Given the description of an element on the screen output the (x, y) to click on. 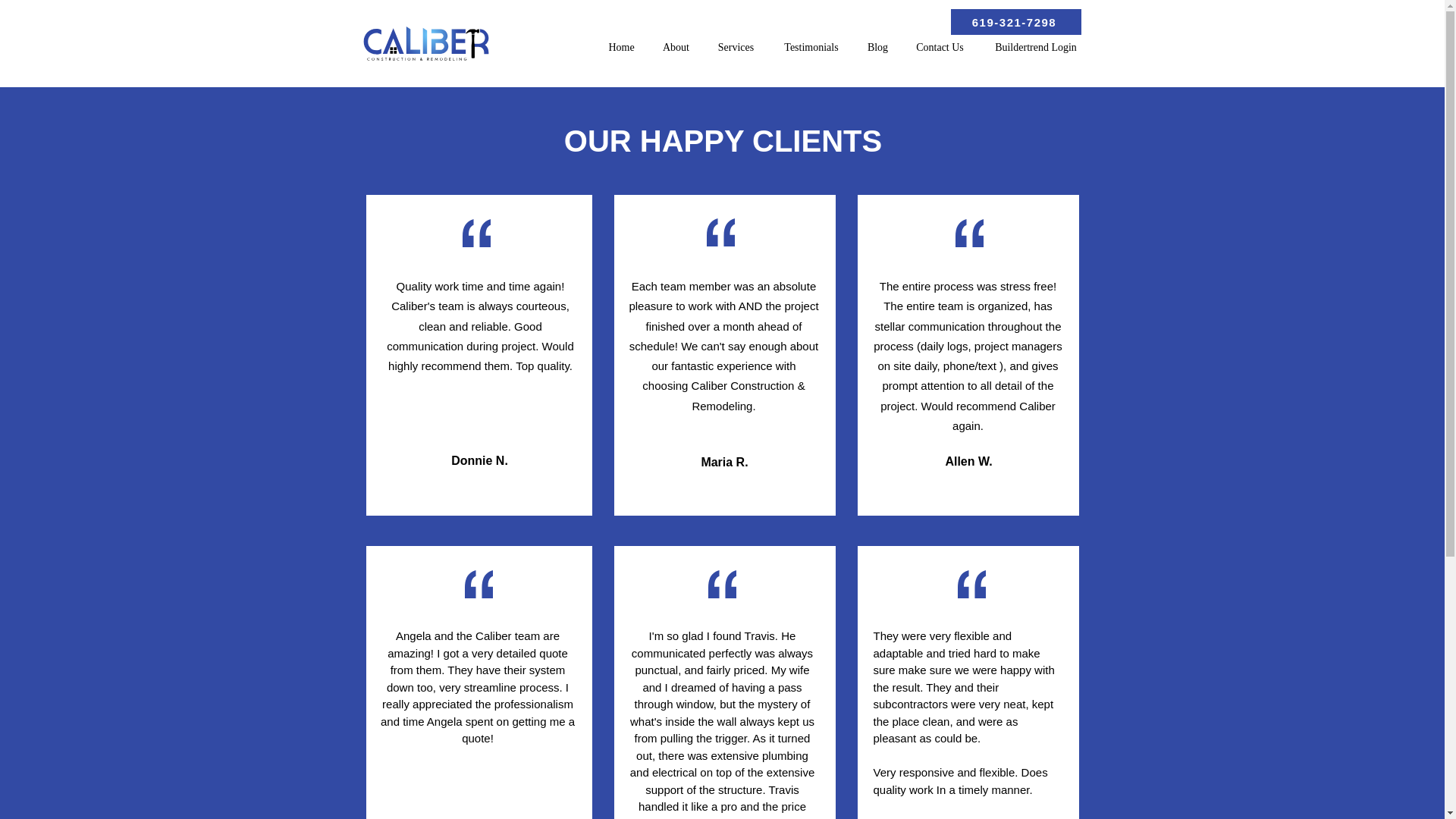
Home (621, 47)
Blog (877, 47)
Contact Us (939, 47)
619-321-7298 (1015, 22)
Buildertrend Login (1035, 47)
Services (735, 47)
About (676, 47)
Testimonials (811, 47)
